Given the description of an element on the screen output the (x, y) to click on. 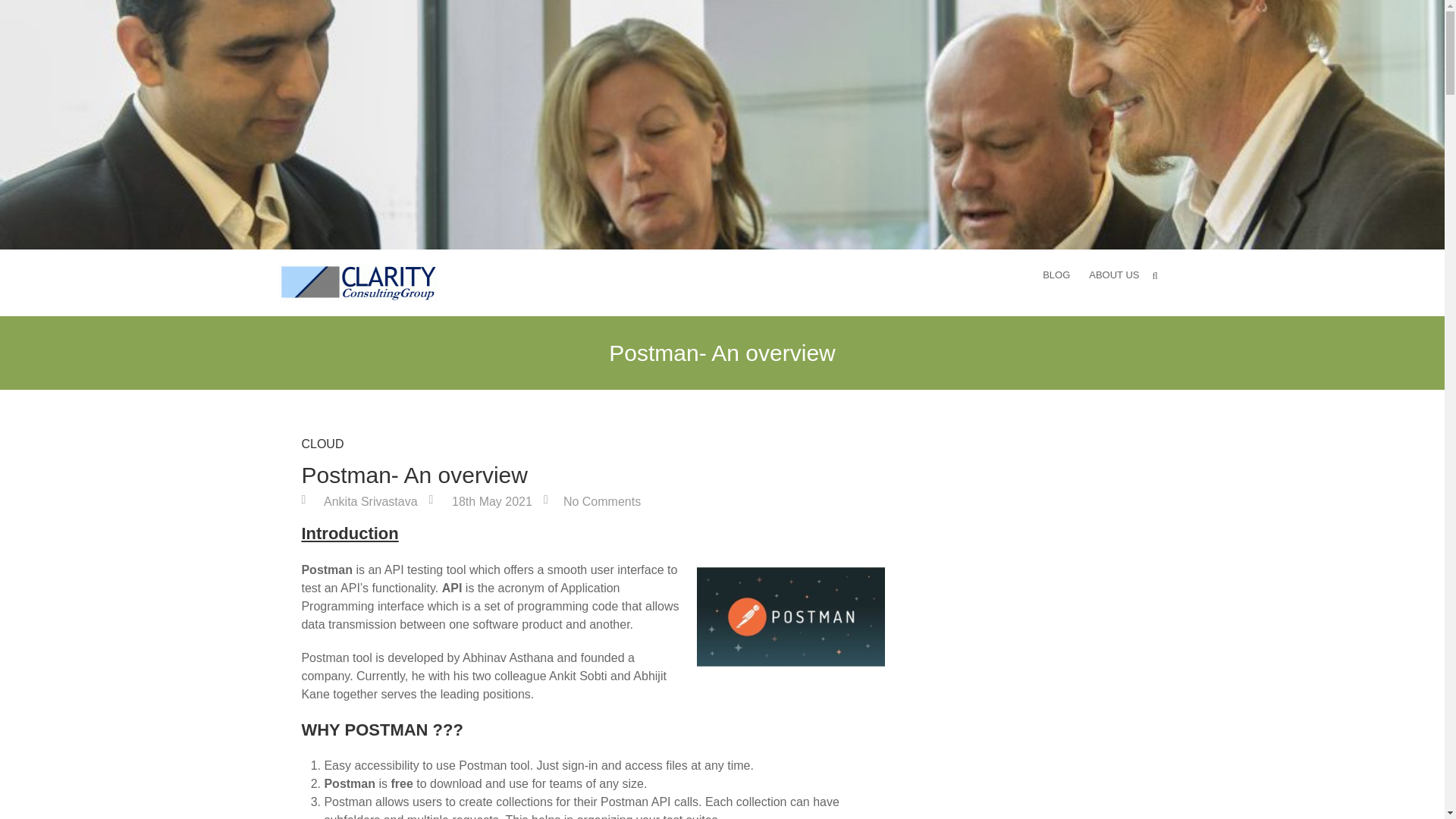
18th May 2021 (480, 501)
Ankita Srivastava (358, 501)
No Comments (591, 501)
Clarity Consulting (358, 282)
CLOUD (322, 447)
ABOUT US (1113, 275)
9:20 am (480, 501)
Ankita Srivastava (358, 501)
BLOG (1056, 275)
